Given the description of an element on the screen output the (x, y) to click on. 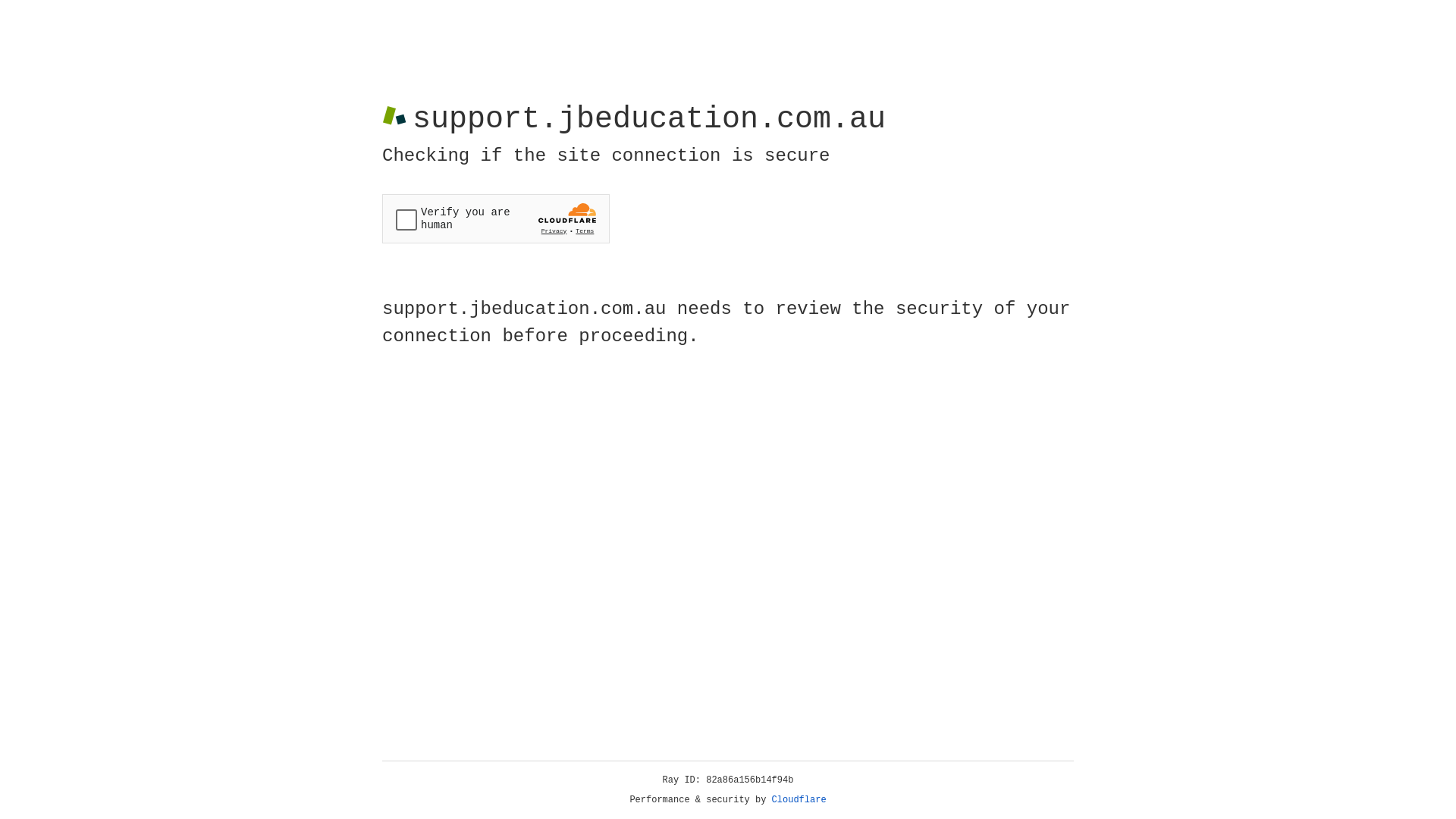
Widget containing a Cloudflare security challenge Element type: hover (495, 218)
Cloudflare Element type: text (798, 799)
